Given the description of an element on the screen output the (x, y) to click on. 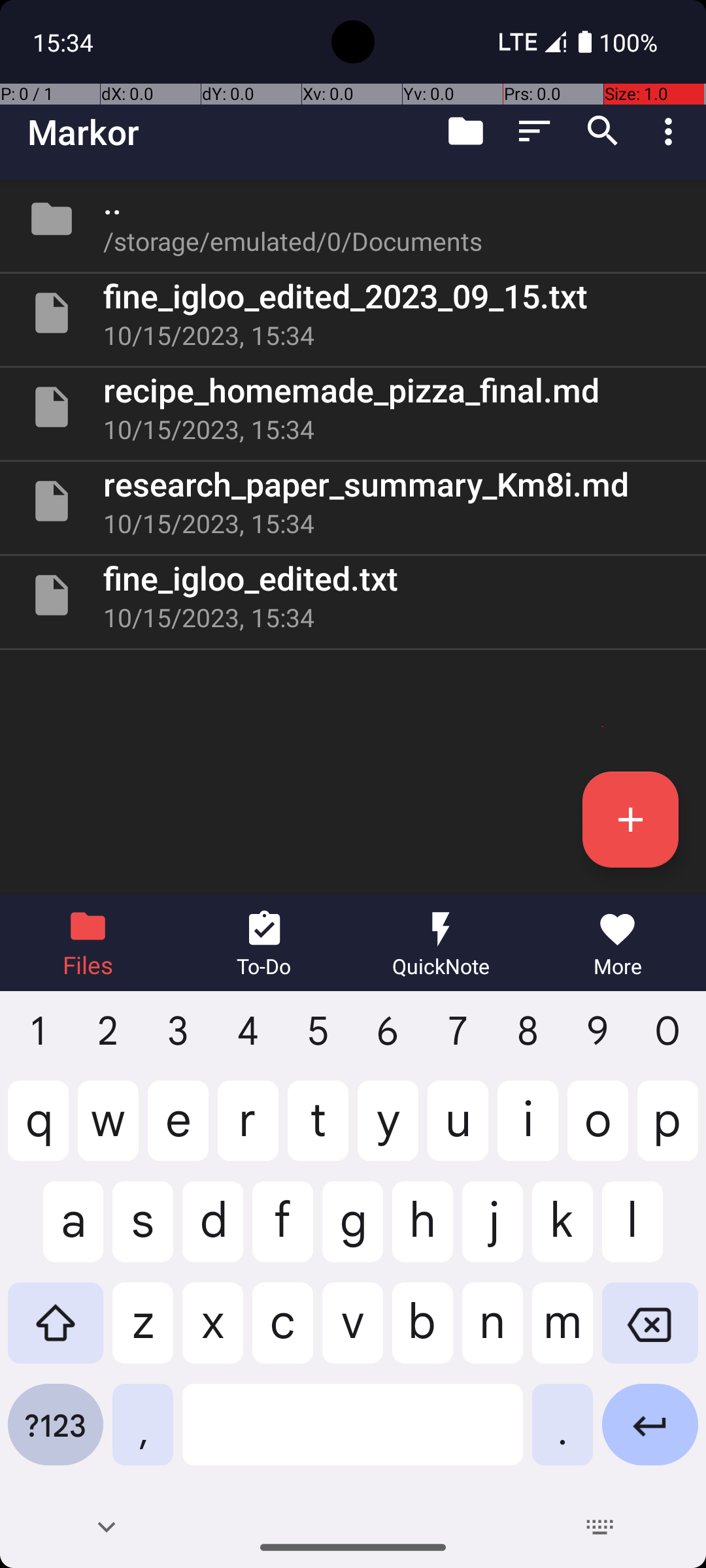
File fine_igloo_edited_2023_09_15.txt  Element type: android.widget.LinearLayout (353, 312)
File recipe_homemade_pizza_final.md  Element type: android.widget.LinearLayout (353, 406)
File research_paper_summary_Km8i.md  Element type: android.widget.LinearLayout (353, 500)
File fine_igloo_edited.txt  Element type: android.widget.LinearLayout (353, 594)
